Given the description of an element on the screen output the (x, y) to click on. 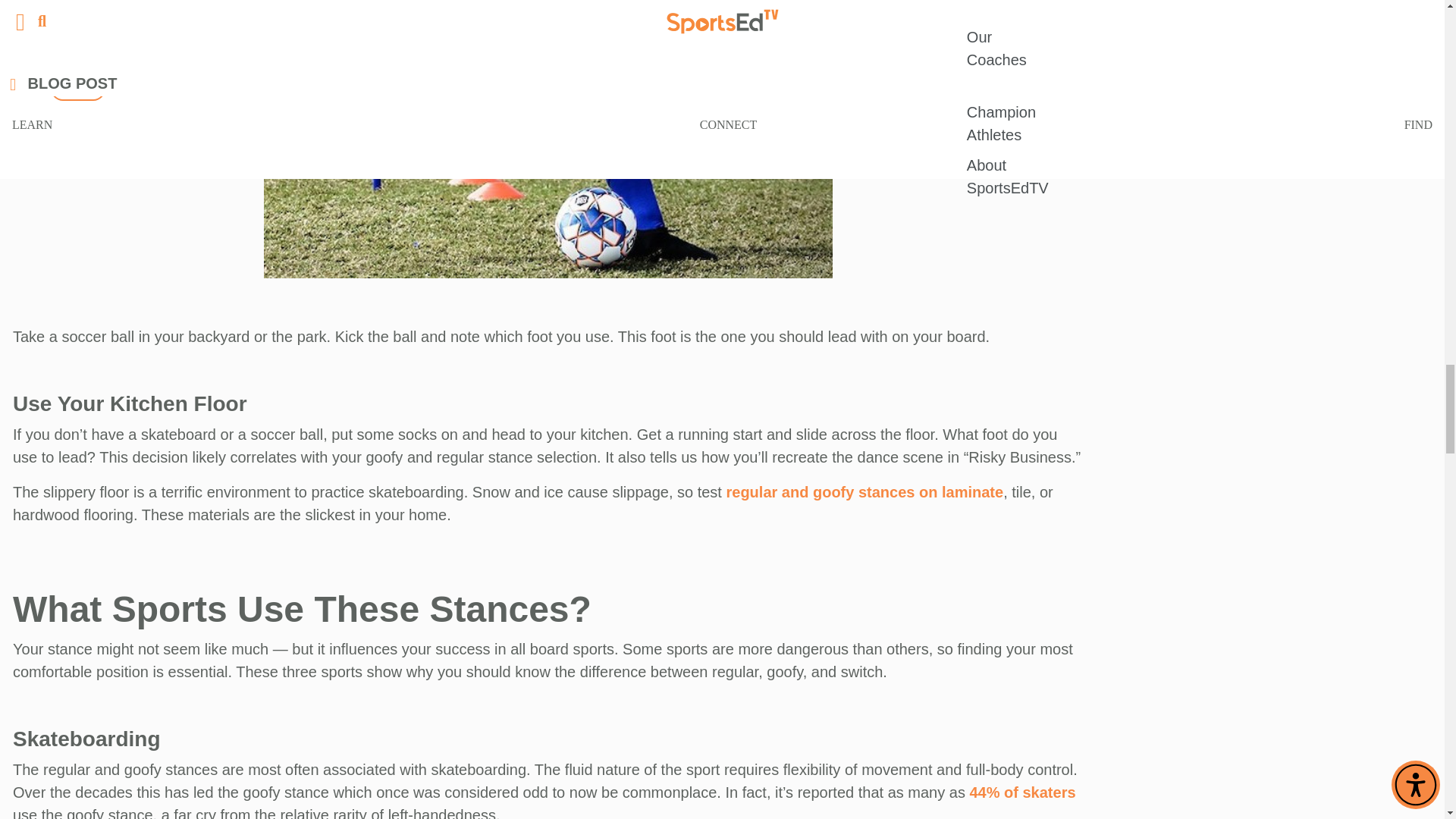
regular and goofy stances on laminate (864, 492)
